Given the description of an element on the screen output the (x, y) to click on. 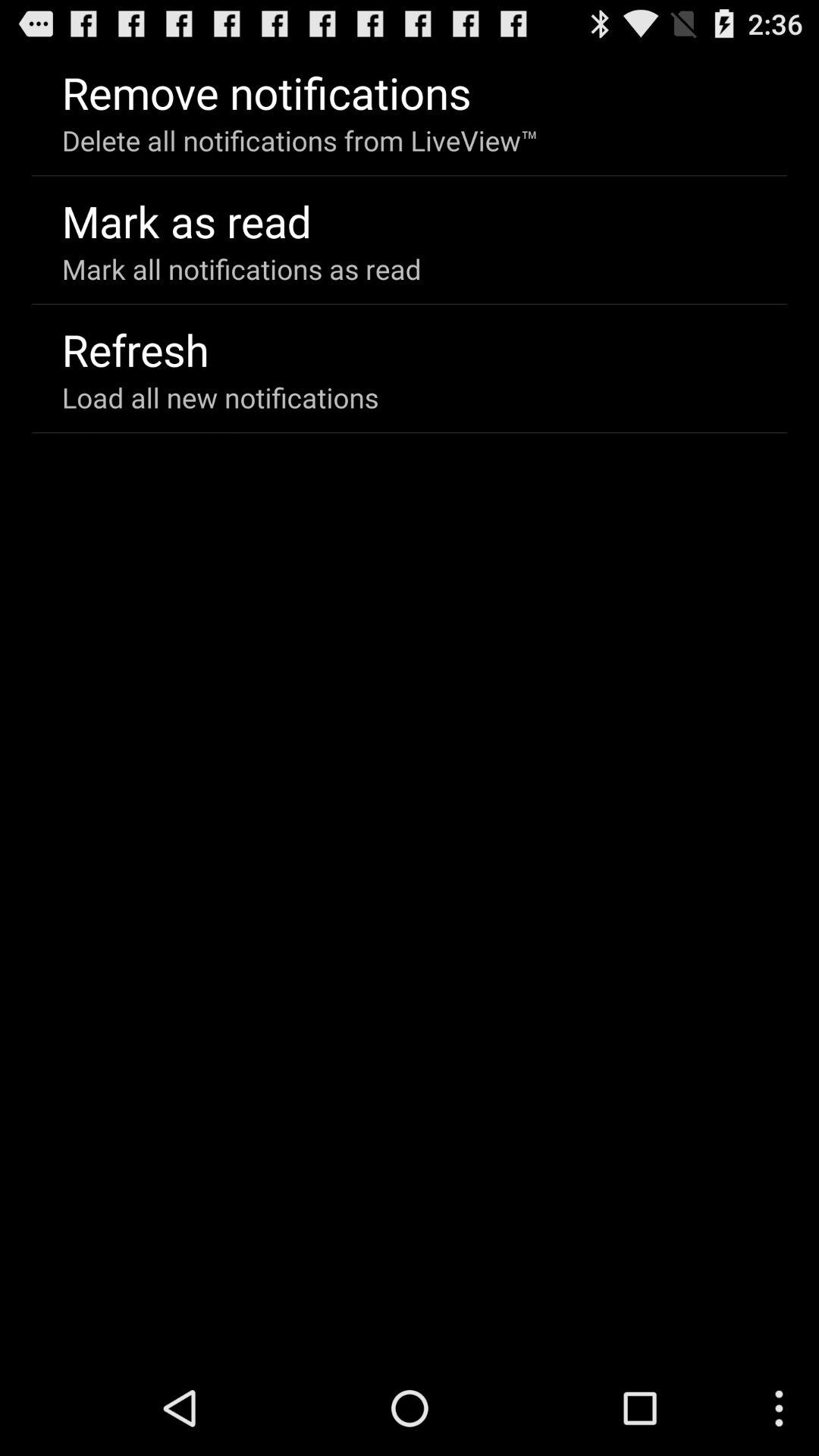
launch icon below refresh item (219, 397)
